Given the description of an element on the screen output the (x, y) to click on. 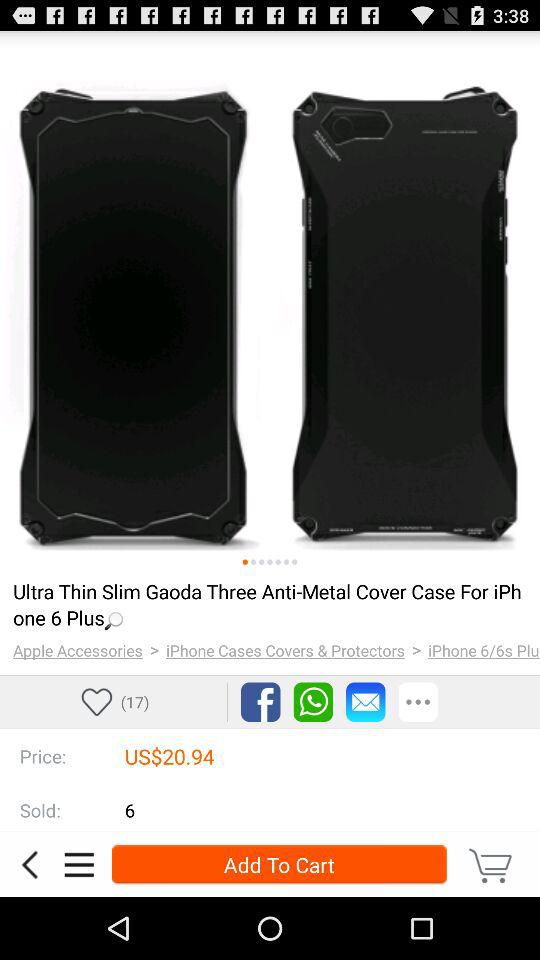
choose the item above the loading... (269, 561)
